Given the description of an element on the screen output the (x, y) to click on. 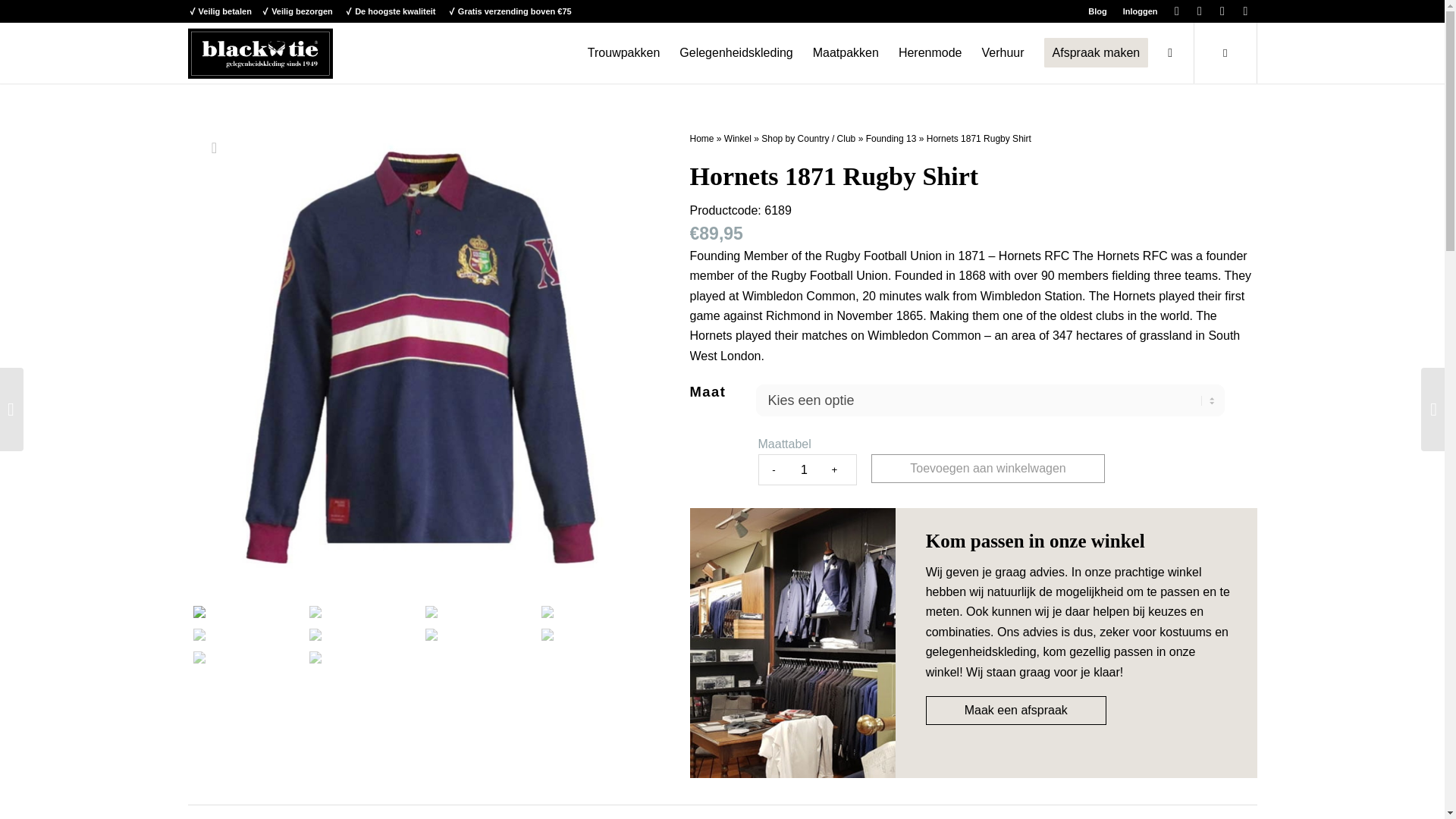
X (1177, 11)
Gelegenheidskleding (735, 52)
Trouwpakken (623, 52)
Facebook (1200, 11)
Inloggen (1139, 11)
Blog (1096, 11)
Instagram (1245, 11)
Youtube (1222, 11)
logo-blacktie (260, 52)
- (773, 469)
